Given the description of an element on the screen output the (x, y) to click on. 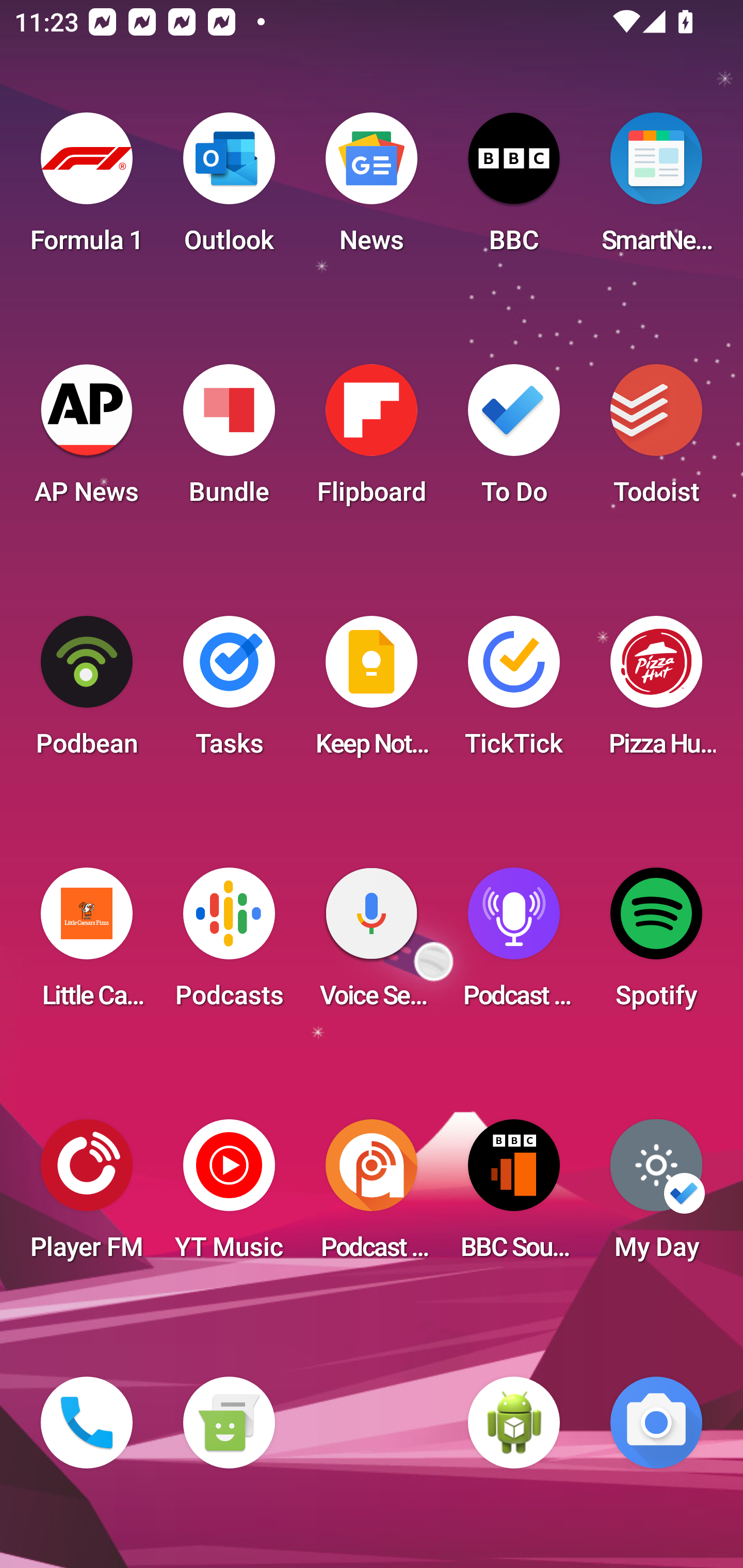
Formula 1 (86, 188)
Outlook (228, 188)
News (371, 188)
BBC (513, 188)
SmartNews (656, 188)
AP News (86, 440)
Bundle (228, 440)
Flipboard (371, 440)
To Do (513, 440)
Todoist (656, 440)
Podbean (86, 692)
Tasks (228, 692)
Keep Notes (371, 692)
TickTick (513, 692)
Pizza Hut HK & Macau (656, 692)
Little Caesars Pizza (86, 943)
Podcasts (228, 943)
Voice Search (371, 943)
Podcast Player (513, 943)
Spotify (656, 943)
Player FM (86, 1195)
YT Music (228, 1195)
Podcast Addict (371, 1195)
BBC Sounds (513, 1195)
My Day (656, 1195)
Phone (86, 1422)
Messaging (228, 1422)
WebView Browser Tester (513, 1422)
Camera (656, 1422)
